Given the description of an element on the screen output the (x, y) to click on. 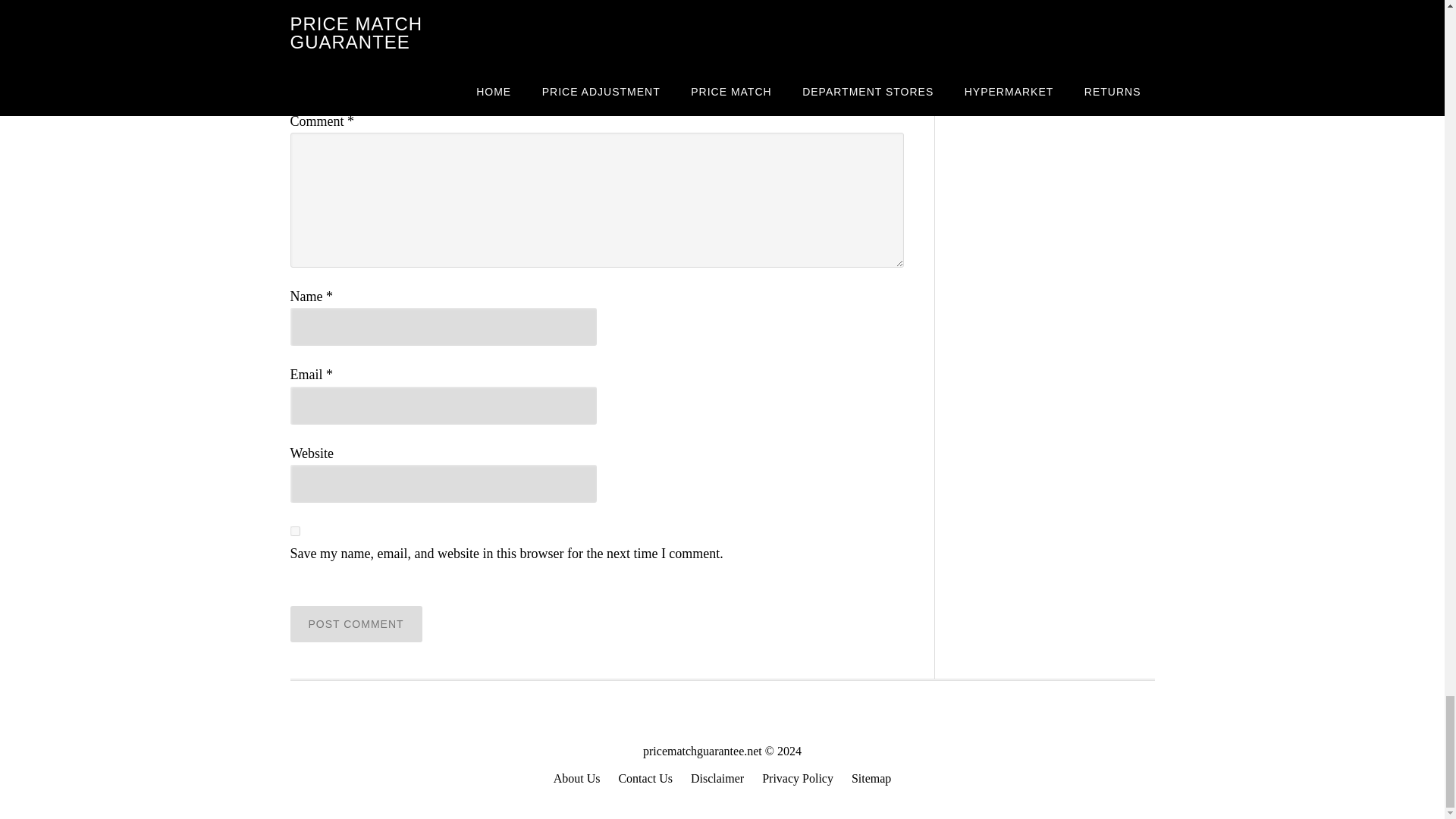
Post Comment (355, 624)
yes (294, 531)
Post Comment (355, 624)
